Given the description of an element on the screen output the (x, y) to click on. 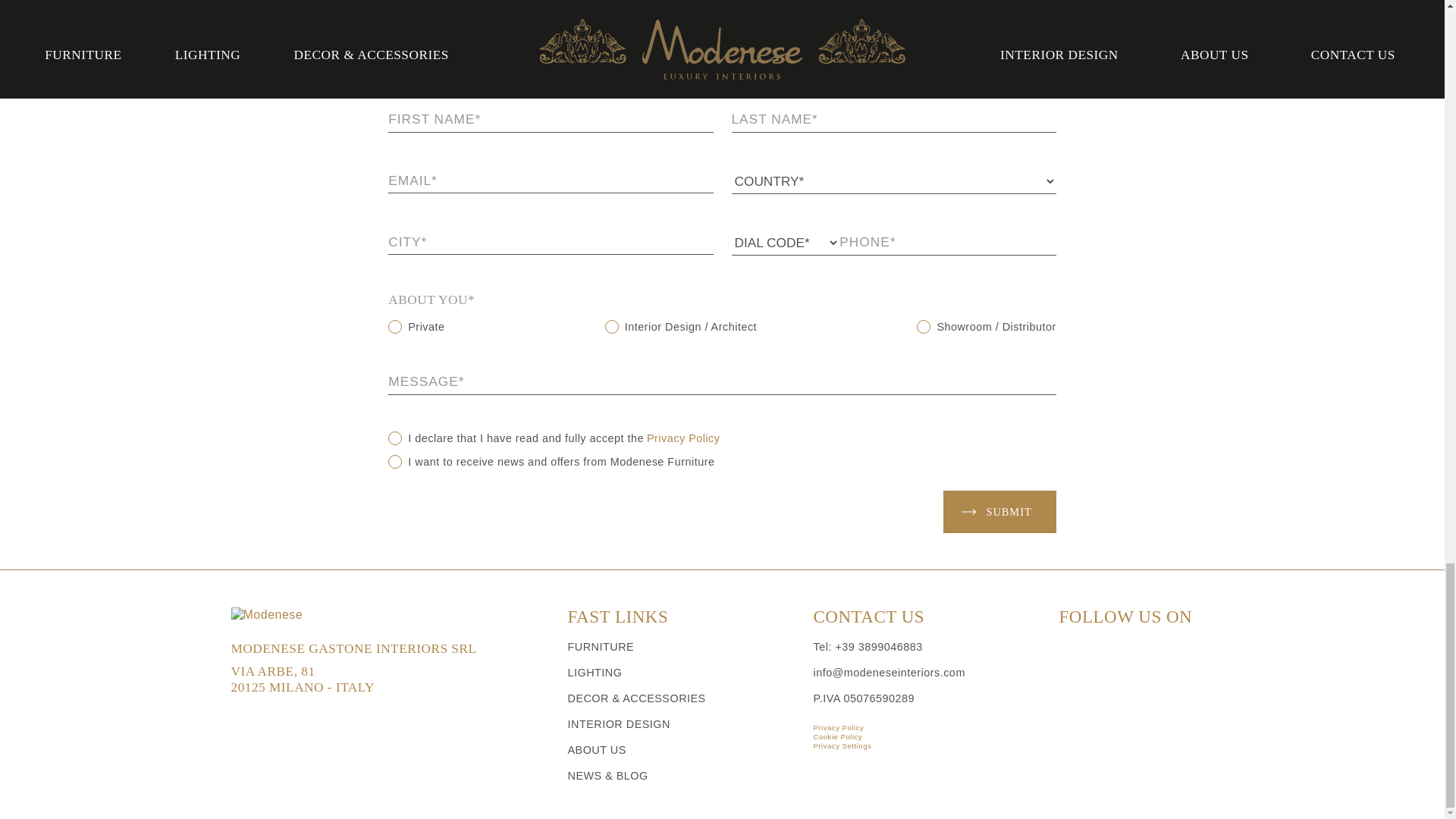
home (388, 614)
Privacy Policy  (926, 727)
Cookie Policy  (926, 737)
Privacy Policy  (683, 438)
